Given the description of an element on the screen output the (x, y) to click on. 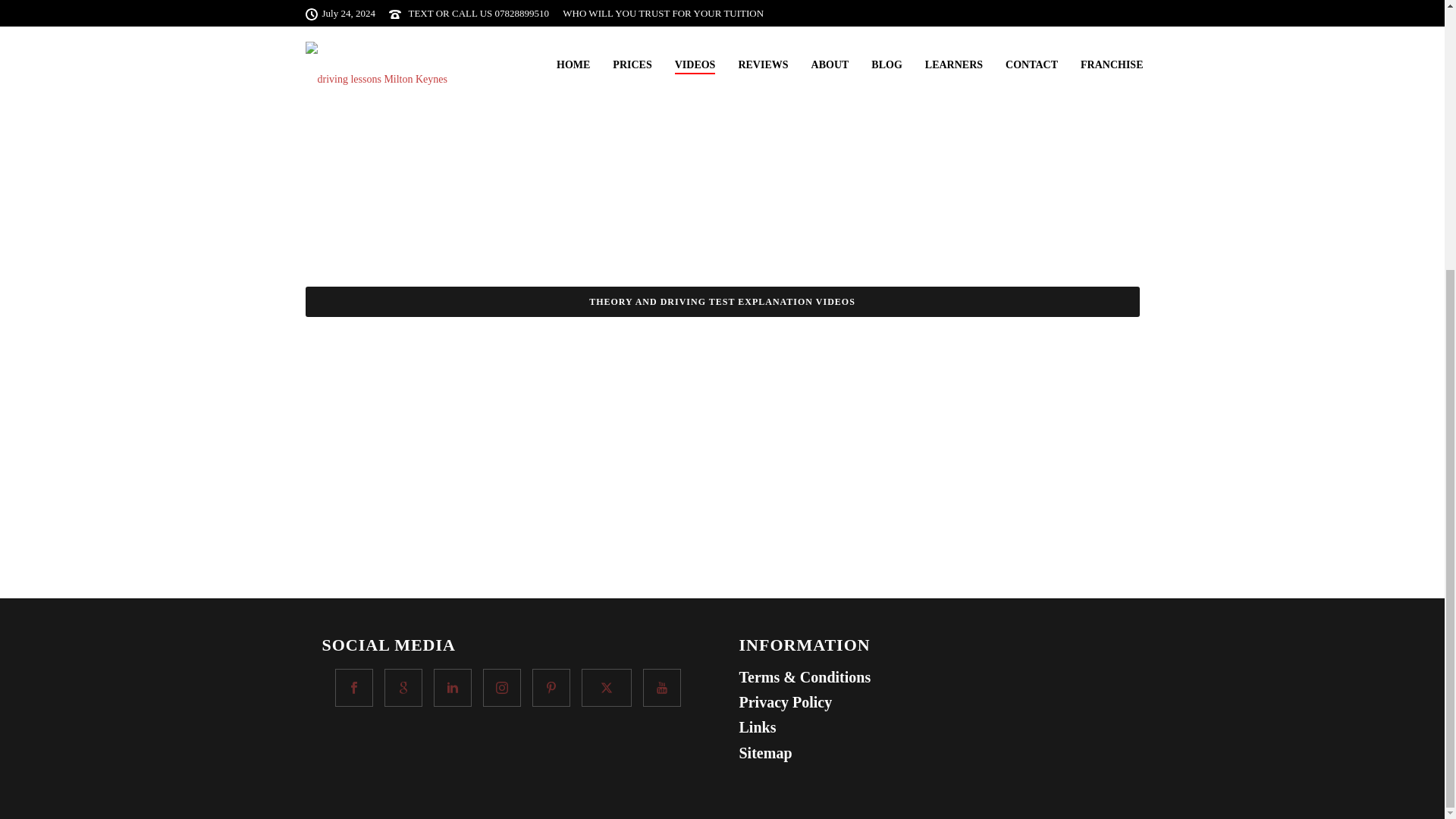
Follow Us on instagram (502, 687)
Follow Us on facebook (353, 687)
Follow Us on youtube (662, 687)
YouTube video player (696, 392)
EVOLVE DRIVING SCHOOL TEST PASS VIDEO REVIEWS (721, 17)
Follow Us on pinterest (551, 687)
Follow Us on google (403, 687)
Follow Us on linkedin (452, 687)
THEORY AND DRIVING TEST EXPLANATION VIDEOS (721, 301)
YouTube video player (418, 392)
Follow Us on twitter (605, 687)
